Given the description of an element on the screen output the (x, y) to click on. 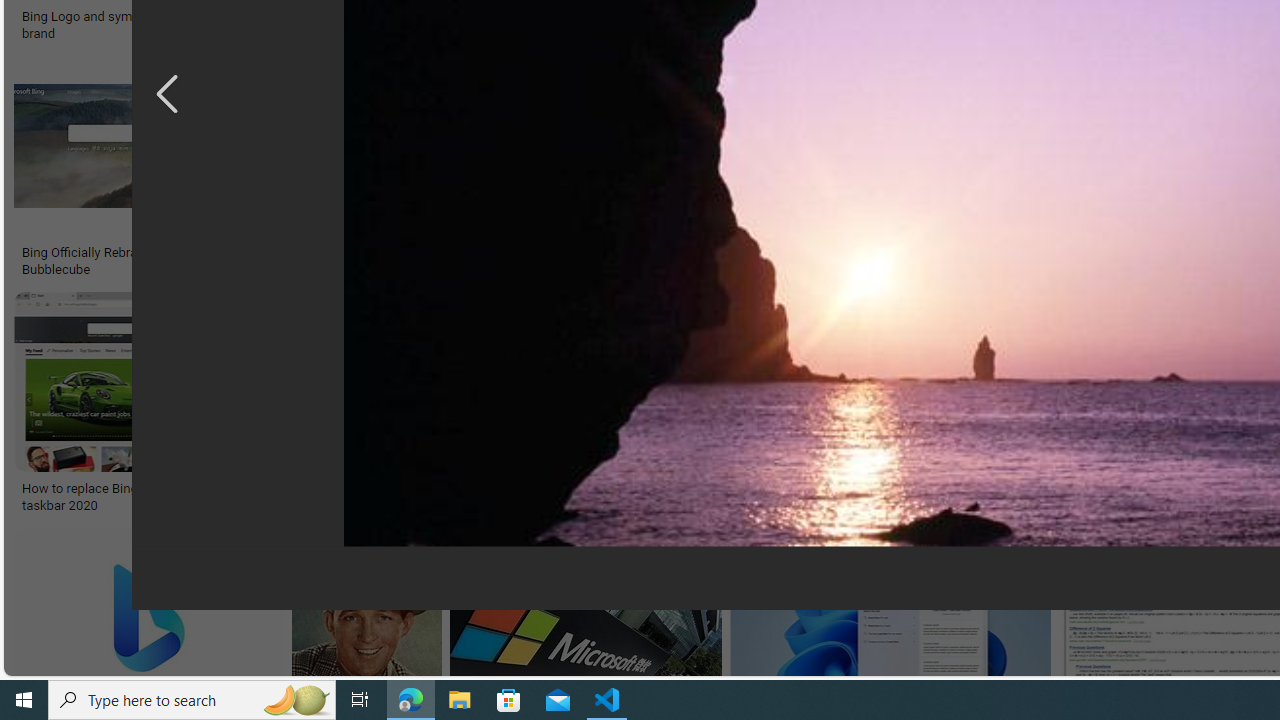
Bing Logo and symbol, meaning, history, PNG, brand (170, 24)
Bing - SEOLend (386, 253)
Bing - SEOLendSave (493, 169)
